Given the description of an element on the screen output the (x, y) to click on. 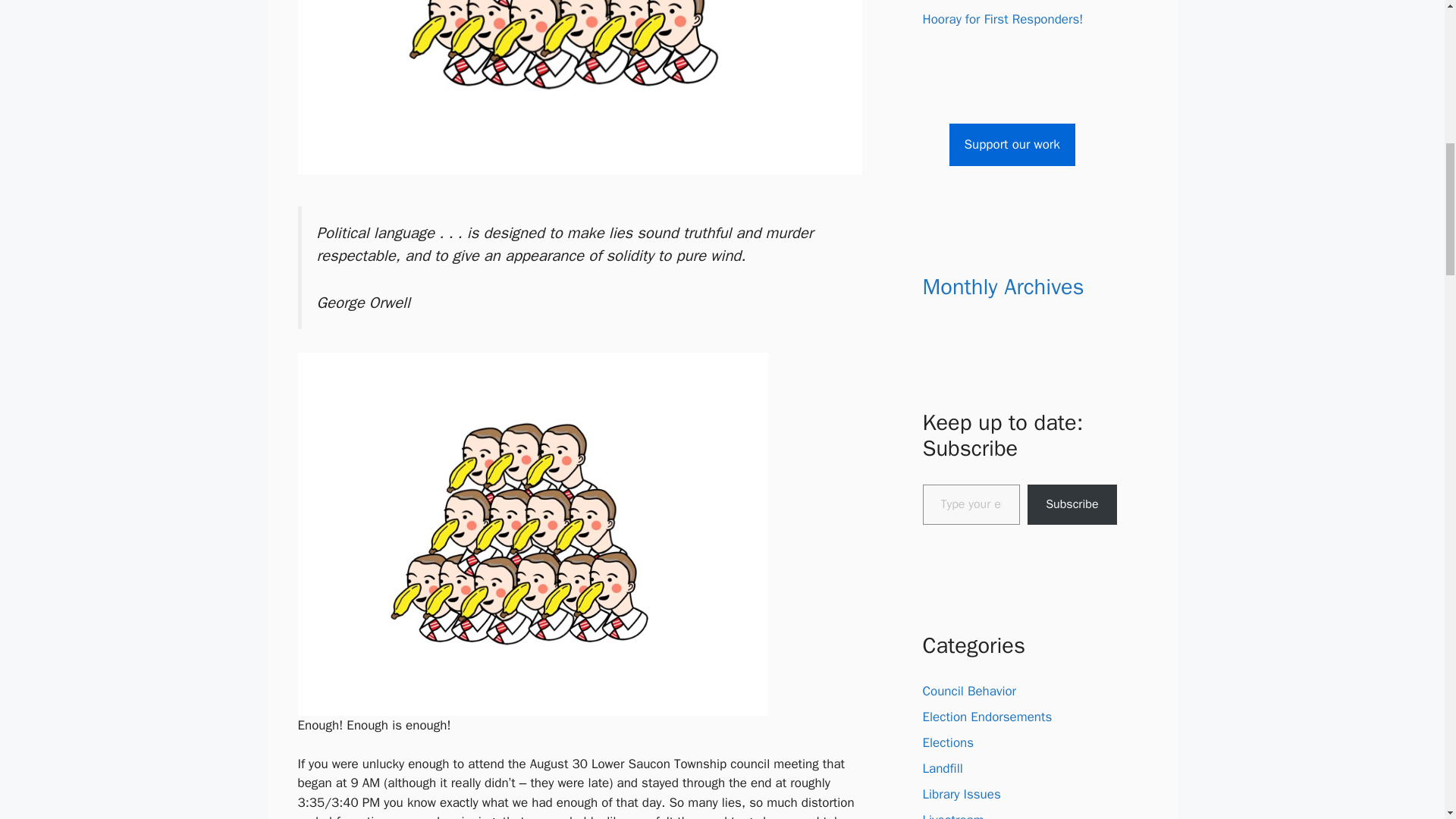
Monthly Archives (1002, 286)
Election Endorsements (986, 716)
Support our work (1012, 144)
Please fill in this field. (970, 504)
Hooray for First Responders! (1002, 19)
Scroll back to top (1406, 720)
Council Behavior (968, 691)
Subscribe (1071, 504)
